Given the description of an element on the screen output the (x, y) to click on. 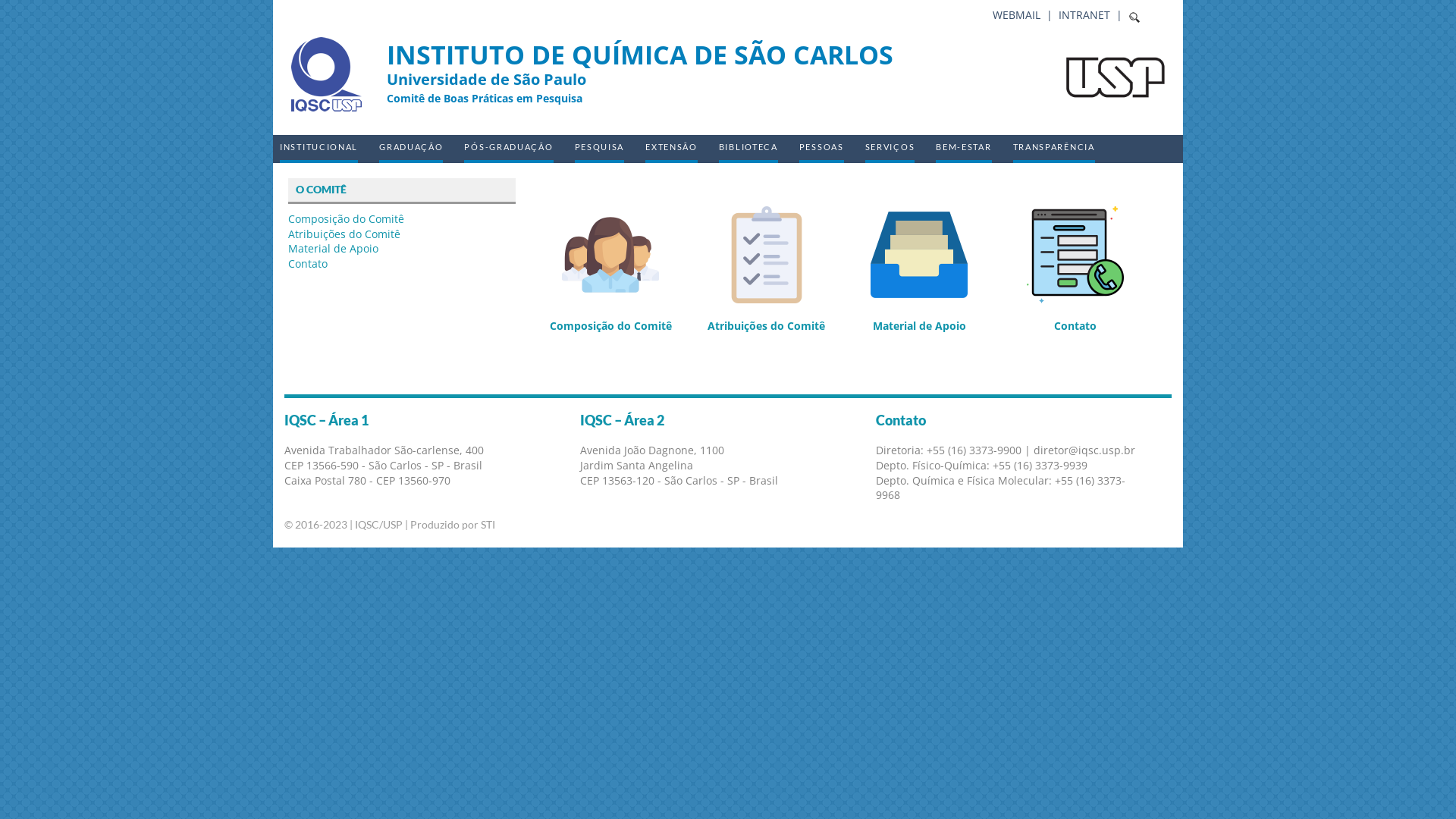
PESSOAS Element type: text (821, 148)
BIBLIOTECA Element type: text (748, 148)
Contato Element type: text (1074, 269)
PESQUISA Element type: text (599, 148)
Contato Element type: text (307, 263)
Busca Element type: text (29, 13)
Material de Apoio Element type: text (333, 248)
BEM-ESTAR Element type: text (963, 148)
Material de Apoio Element type: text (919, 269)
INSTITUCIONAL Element type: text (318, 148)
